Given the description of an element on the screen output the (x, y) to click on. 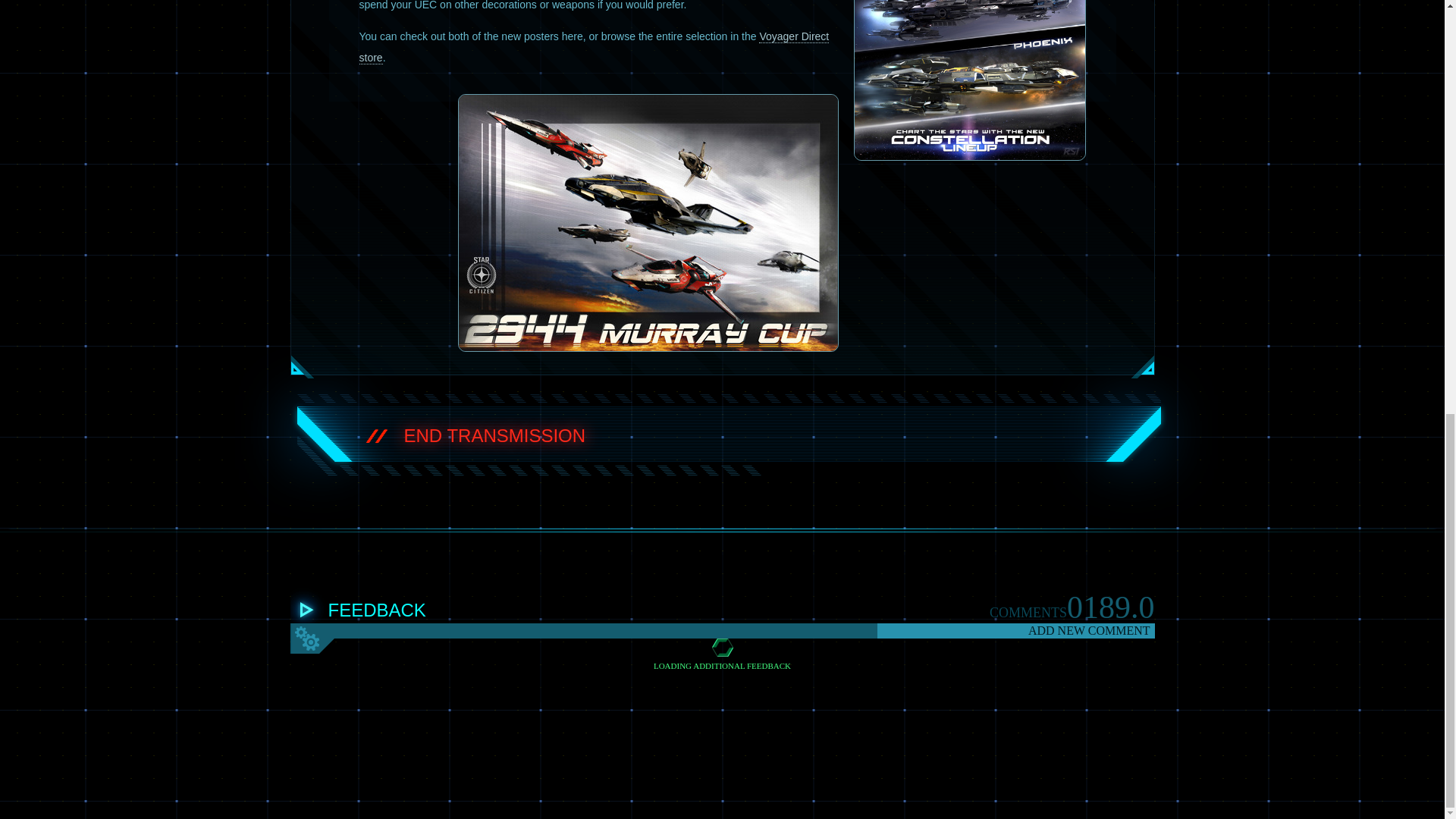
Voyager Direct store (594, 47)
ADD NEW COMMENT (1015, 630)
